Given the description of an element on the screen output the (x, y) to click on. 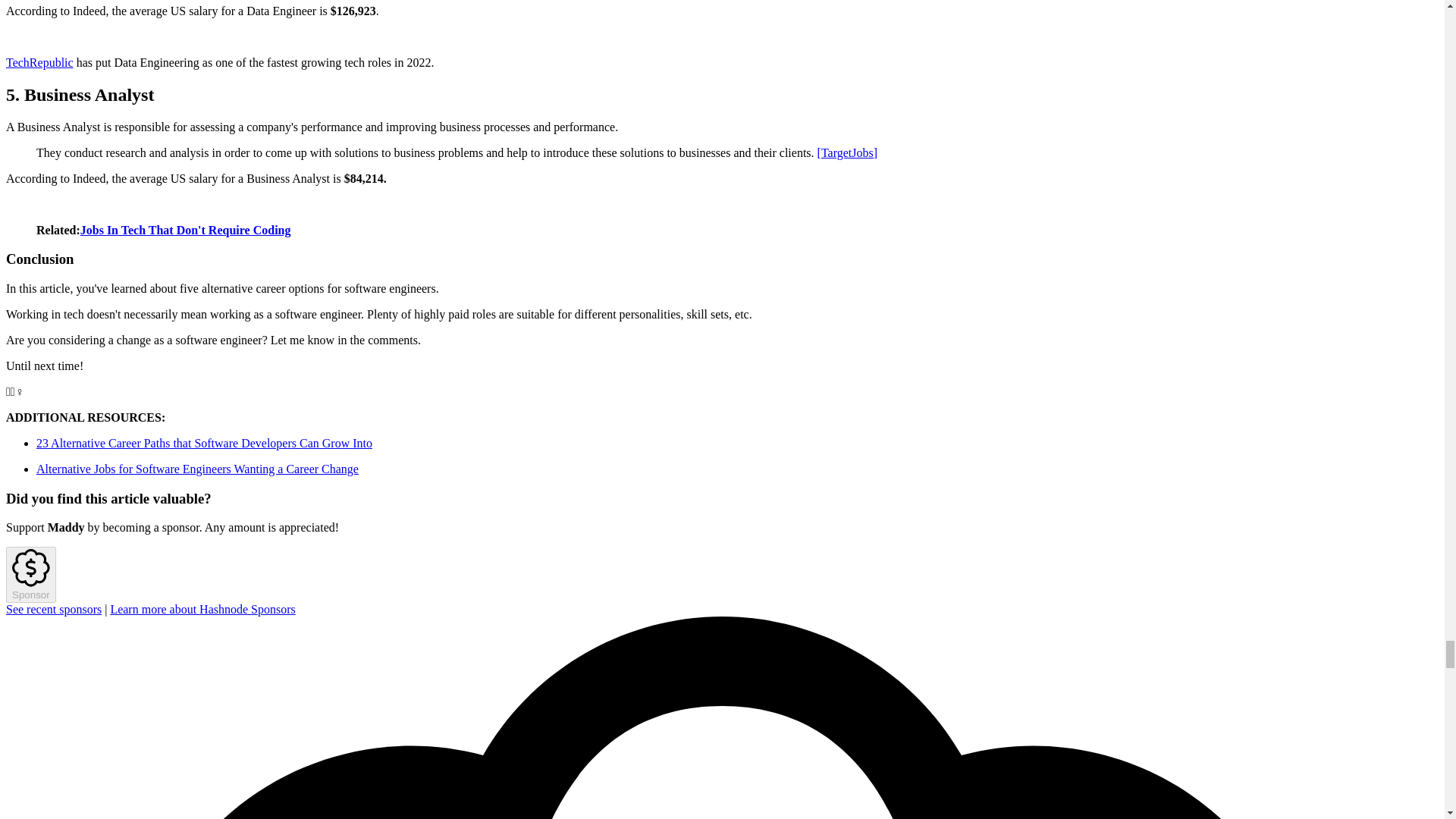
Learn more about Hashnode Sponsors (202, 608)
See recent sponsors (53, 608)
Jobs In Tech That Don't Require Coding (185, 229)
Sponsor (30, 574)
TechRepublic (39, 62)
